Given the description of an element on the screen output the (x, y) to click on. 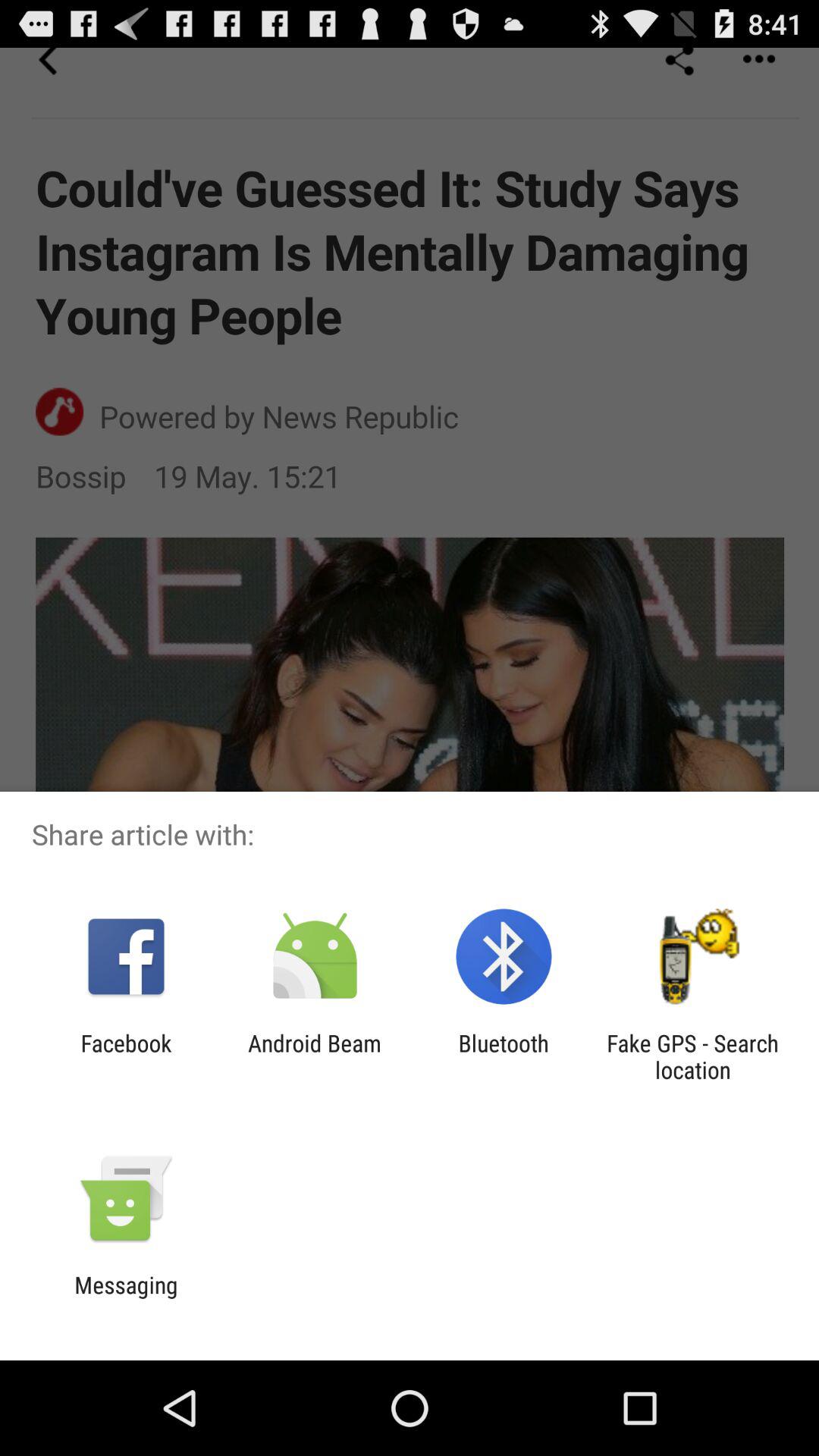
tap icon next to the fake gps search (503, 1056)
